Given the description of an element on the screen output the (x, y) to click on. 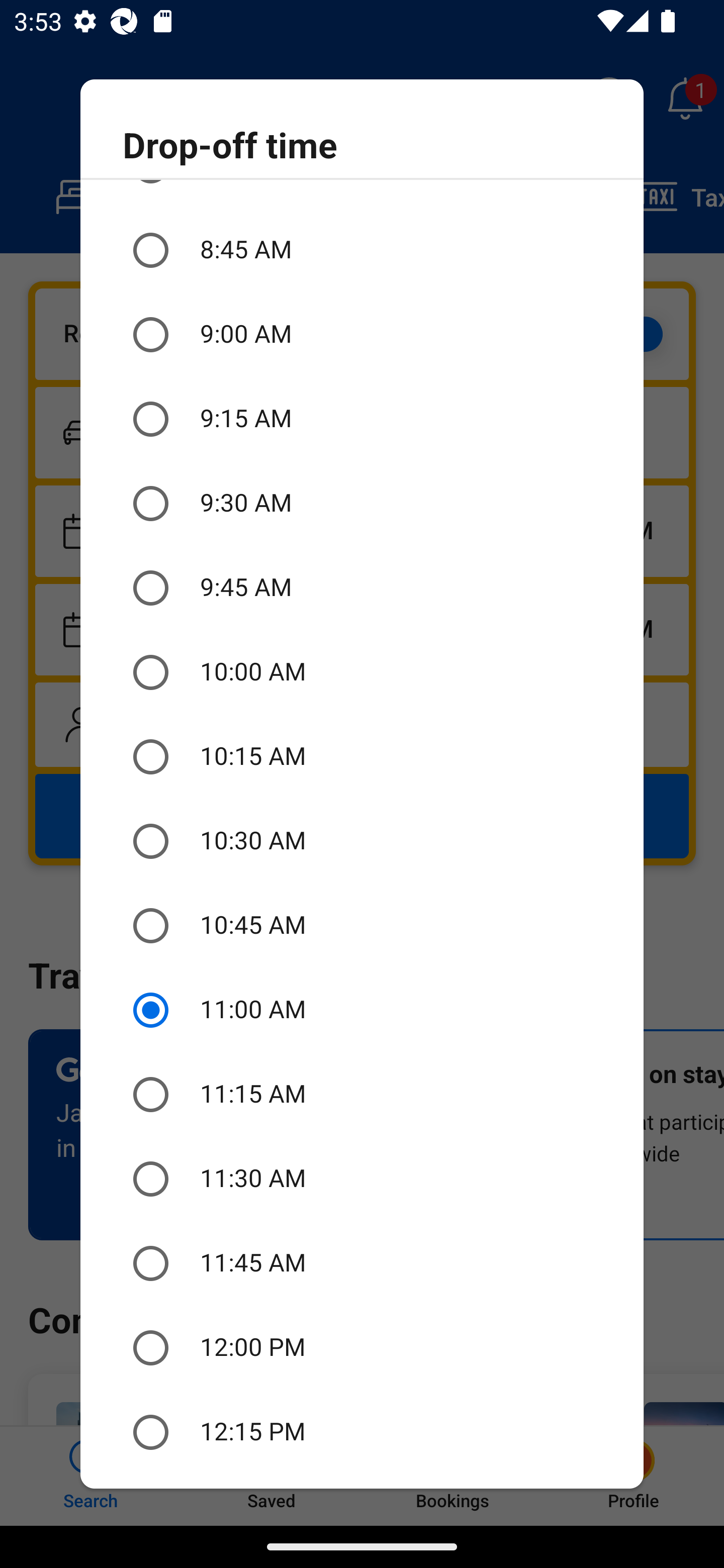
8:45 AM (361, 250)
9:00 AM (361, 334)
9:15 AM (361, 418)
9:30 AM (361, 502)
9:45 AM (361, 587)
10:00 AM (361, 672)
10:15 AM (361, 757)
10:30 AM (361, 840)
10:45 AM (361, 924)
11:00 AM (361, 1009)
11:15 AM (361, 1094)
11:30 AM (361, 1178)
11:45 AM (361, 1263)
12:00 PM (361, 1348)
12:15 PM (361, 1431)
